Given the description of an element on the screen output the (x, y) to click on. 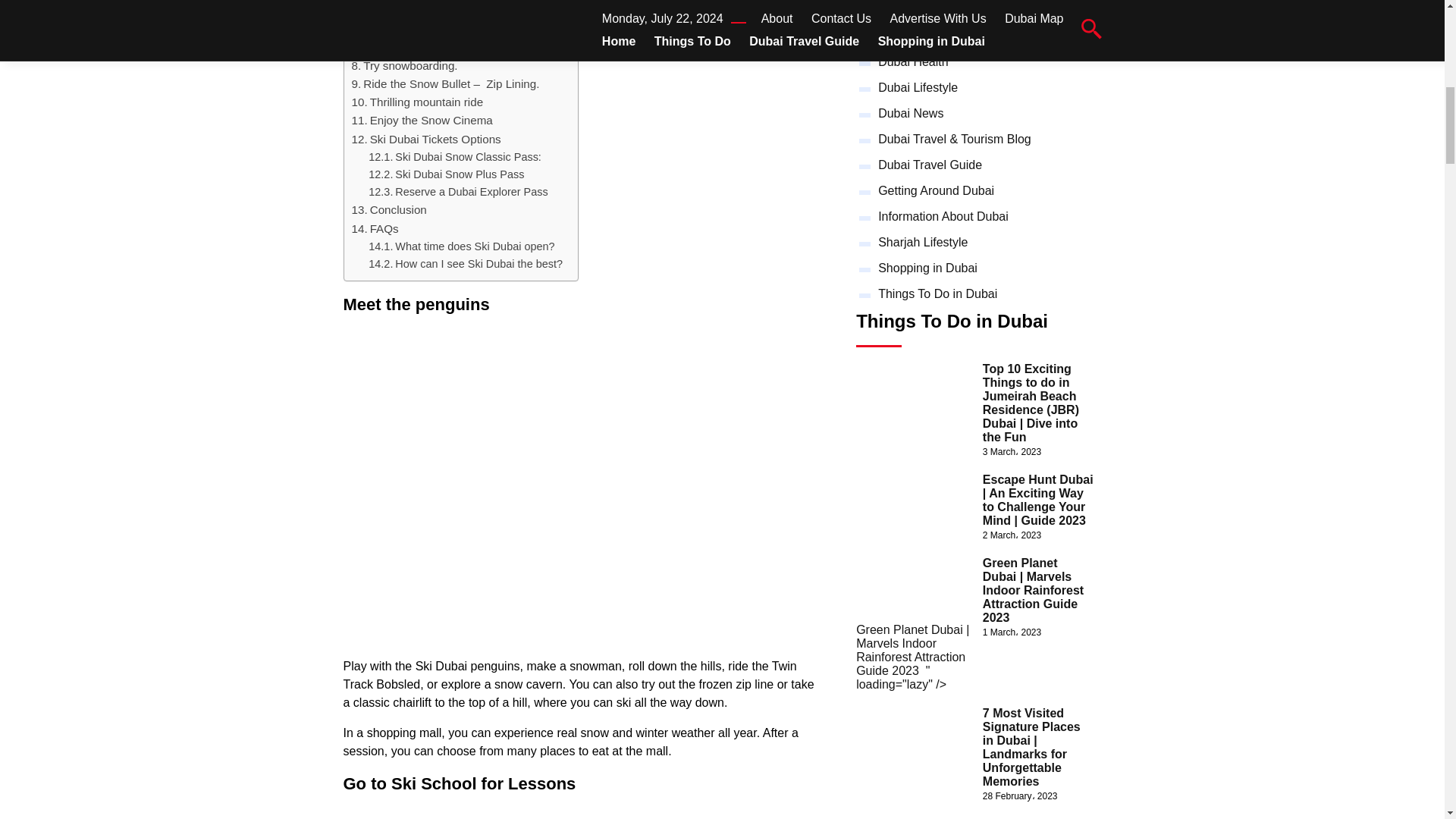
Ski Dubai Tickets Options (426, 139)
Ski Over Slopes (399, 28)
Have fun on Snow Tubes Ride (435, 10)
Ski Dubai Snow Classic Pass: (454, 157)
Enjoy the Snow Cinema (422, 120)
Ski Dubai Snow Plus Pass (446, 174)
Ski Dubai Tickets Options (426, 139)
Have fun on Snow Tubes Ride (435, 10)
Ski Over Slopes (399, 28)
Enjoy the Snow Cinema (422, 120)
Discover the Ice Cave (414, 46)
Thrilling mountain ride (417, 102)
Thrilling mountain ride (417, 102)
